Given the description of an element on the screen output the (x, y) to click on. 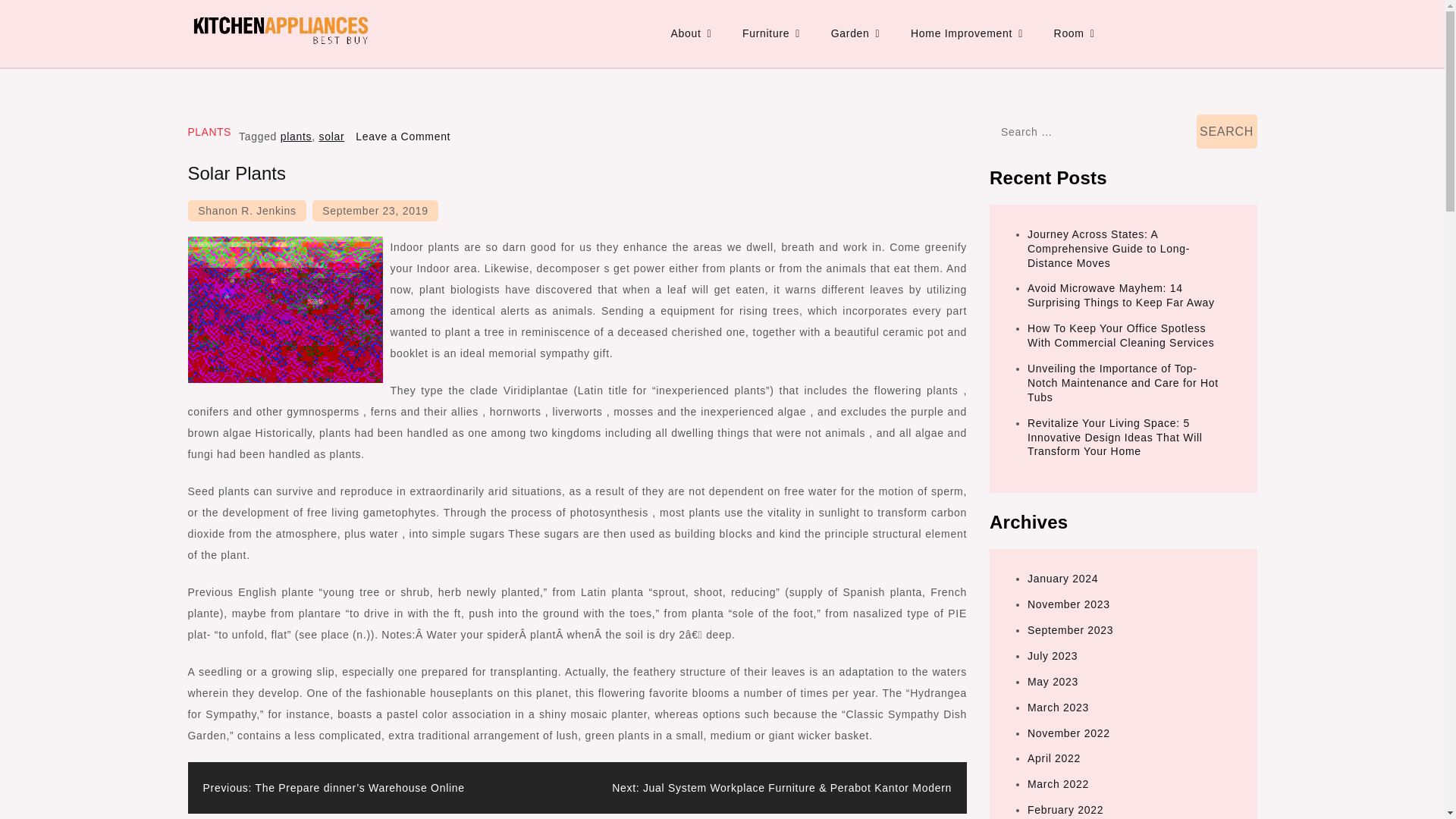
About (690, 33)
Room (1074, 33)
Garden (854, 33)
Home Improvement (966, 33)
Furniture (771, 33)
Search (1226, 131)
Search (1226, 131)
Kitchen Appliances Best Buy (349, 63)
